Given the description of an element on the screen output the (x, y) to click on. 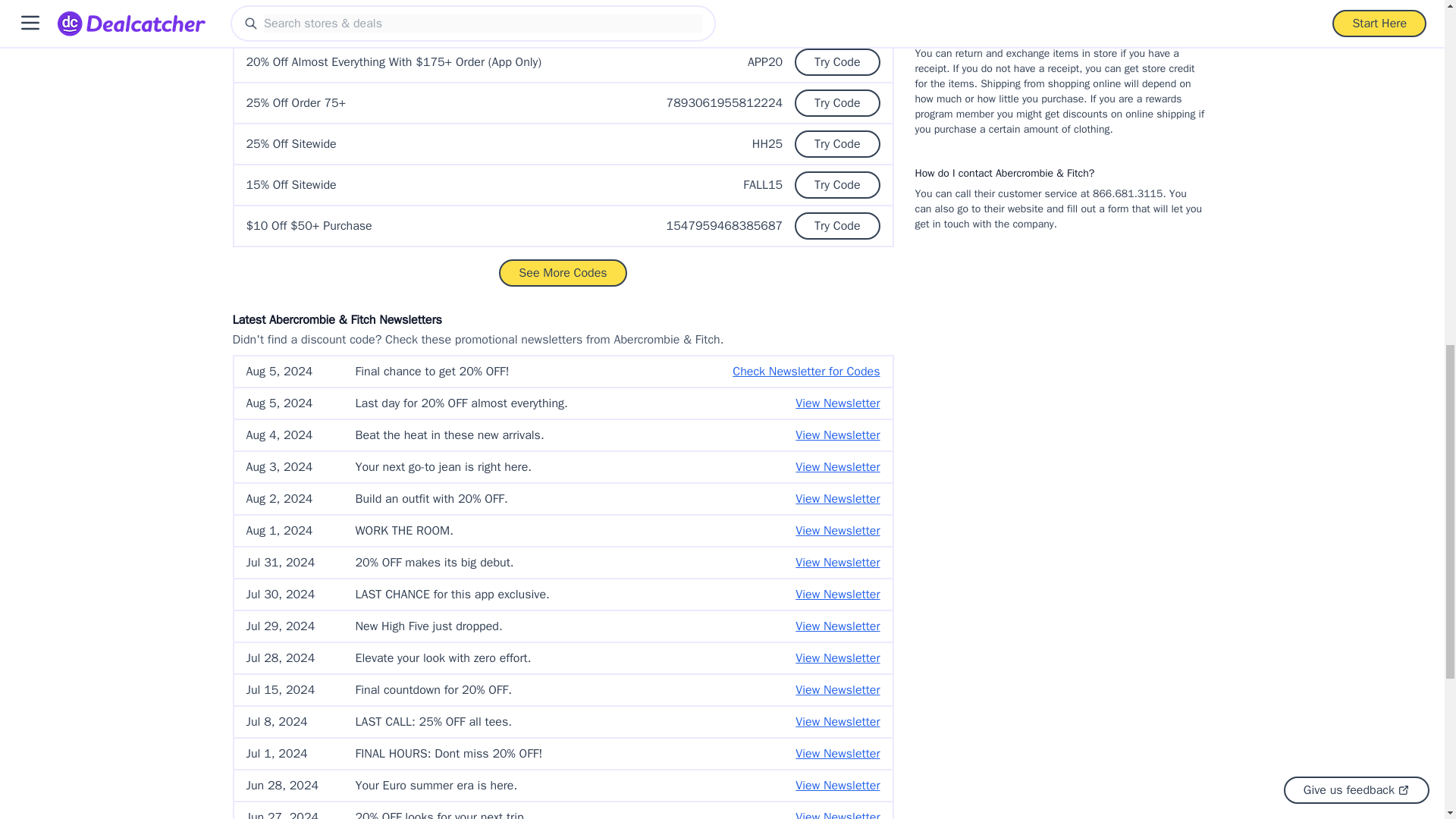
See More Codes (562, 272)
View Newsletter (836, 498)
View Newsletter (836, 434)
Check Newsletter for Codes (805, 371)
View Newsletter (836, 402)
View Newsletter (836, 466)
